Given the description of an element on the screen output the (x, y) to click on. 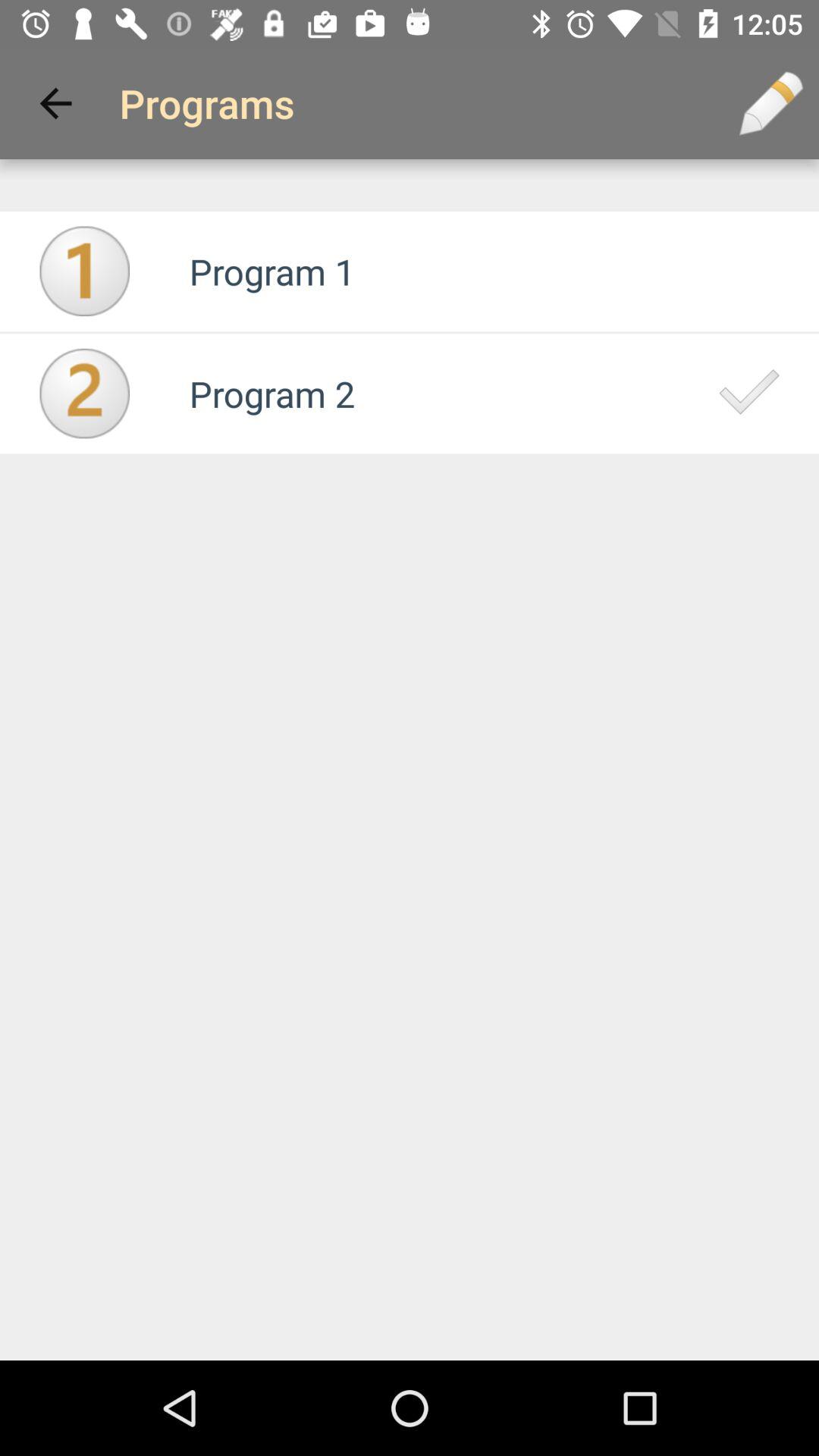
click item to the left of programs (55, 103)
